Given the description of an element on the screen output the (x, y) to click on. 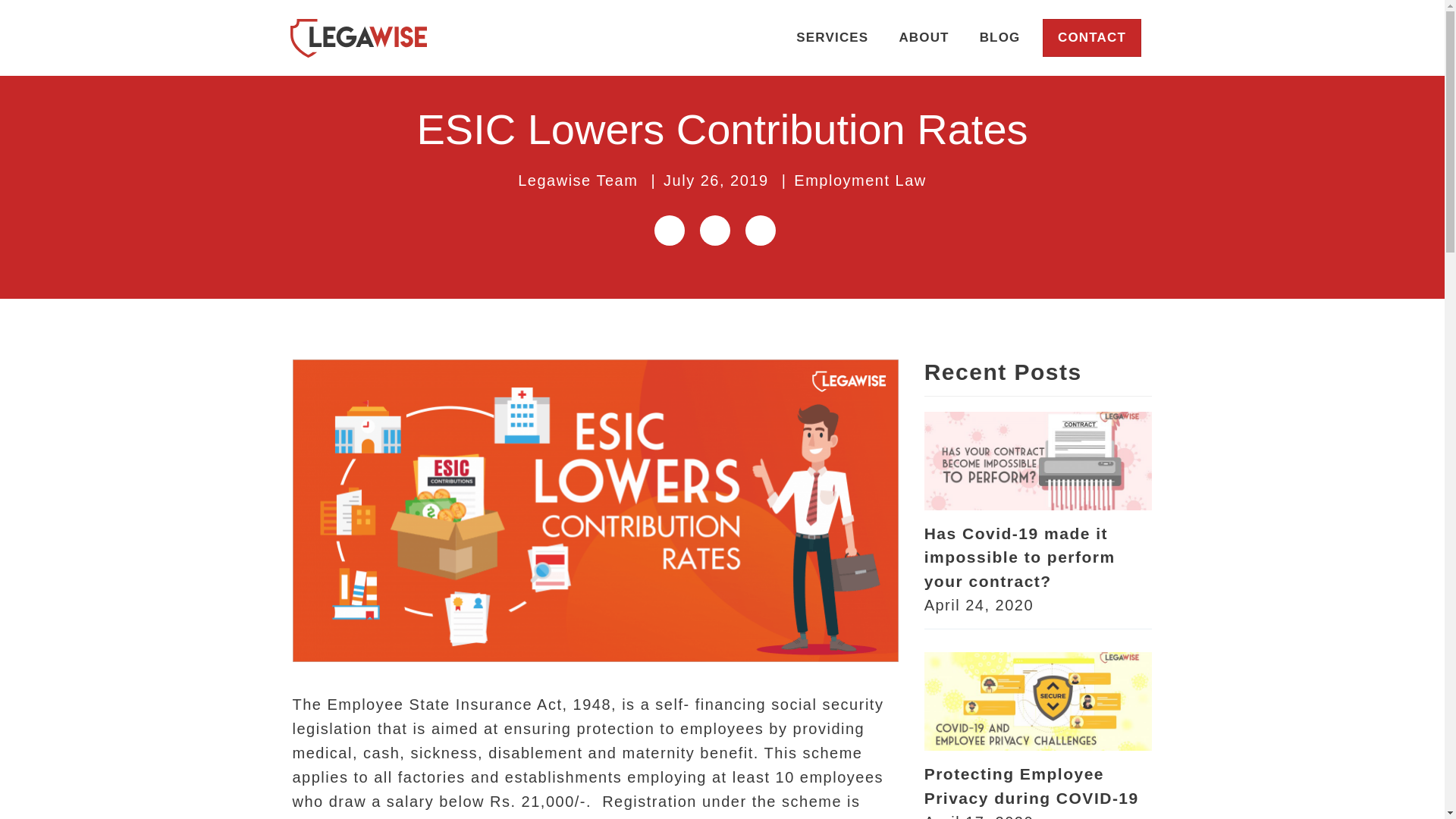
ABOUT (923, 37)
Facebook (713, 230)
SERVICES (831, 37)
CONTACT (1091, 37)
LinkedIn (668, 230)
About (923, 37)
legawise (358, 38)
Contact (1091, 37)
Services (831, 37)
Employment Law (859, 180)
Employment Law (859, 180)
Protecting Employee Privacy during COVID-19 (1031, 785)
Twitter (759, 230)
BLOG (999, 37)
